Given the description of an element on the screen output the (x, y) to click on. 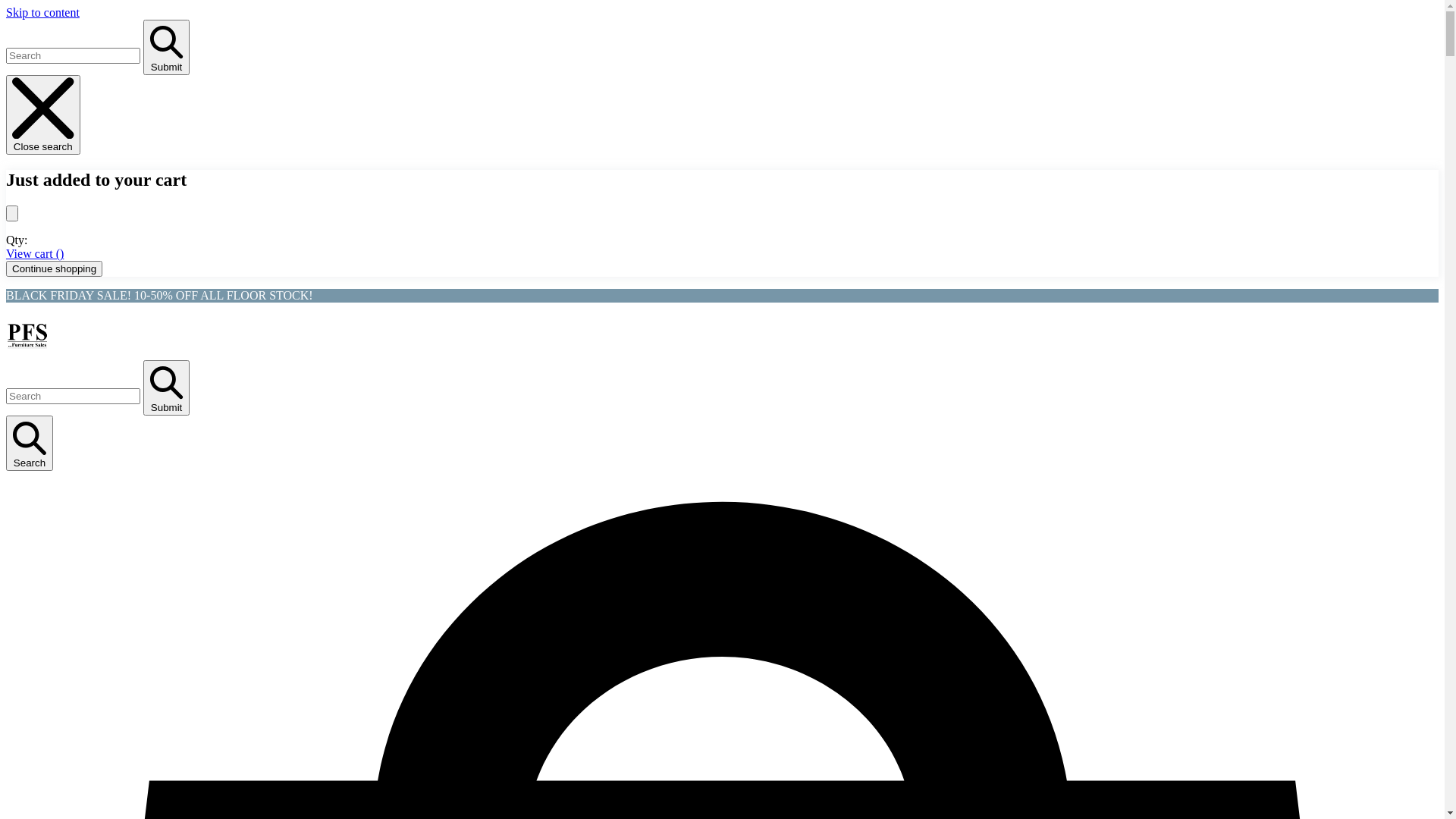
Submit Element type: text (166, 47)
View cart () Element type: text (34, 253)
Search Element type: text (29, 443)
Skip to content Element type: text (42, 12)
Continue shopping Element type: text (54, 268)
Close search Element type: text (43, 115)
Submit Element type: text (166, 387)
